Given the description of an element on the screen output the (x, y) to click on. 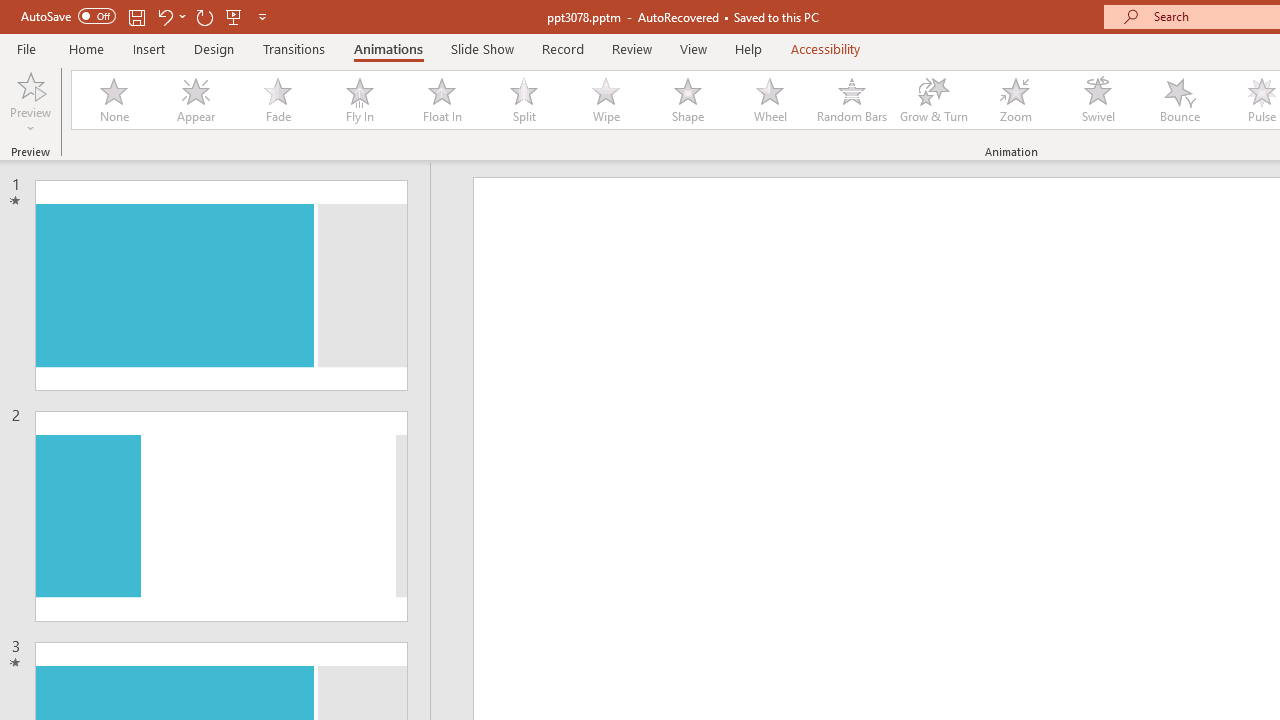
Swivel (1098, 100)
